Given the description of an element on the screen output the (x, y) to click on. 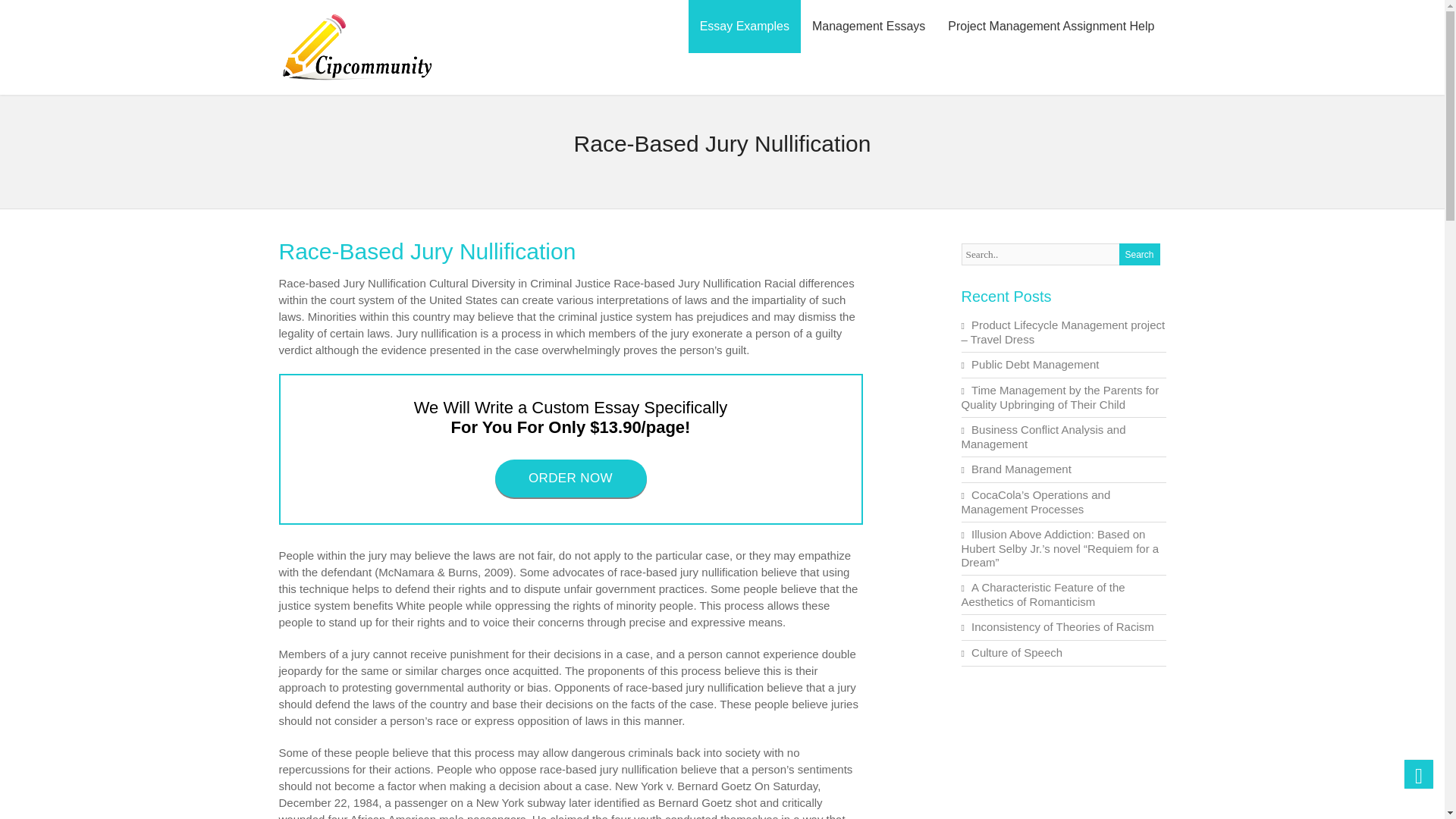
Culture of Speech (1016, 652)
Project Management Assignment Help (1051, 26)
Search (1139, 254)
Cipcommunity (357, 81)
Back To Top (1418, 774)
Essay Examples (744, 26)
ORDER NOW (570, 478)
Business Conflict Analysis and Management (1042, 436)
Brand Management (1021, 468)
